Given the description of an element on the screen output the (x, y) to click on. 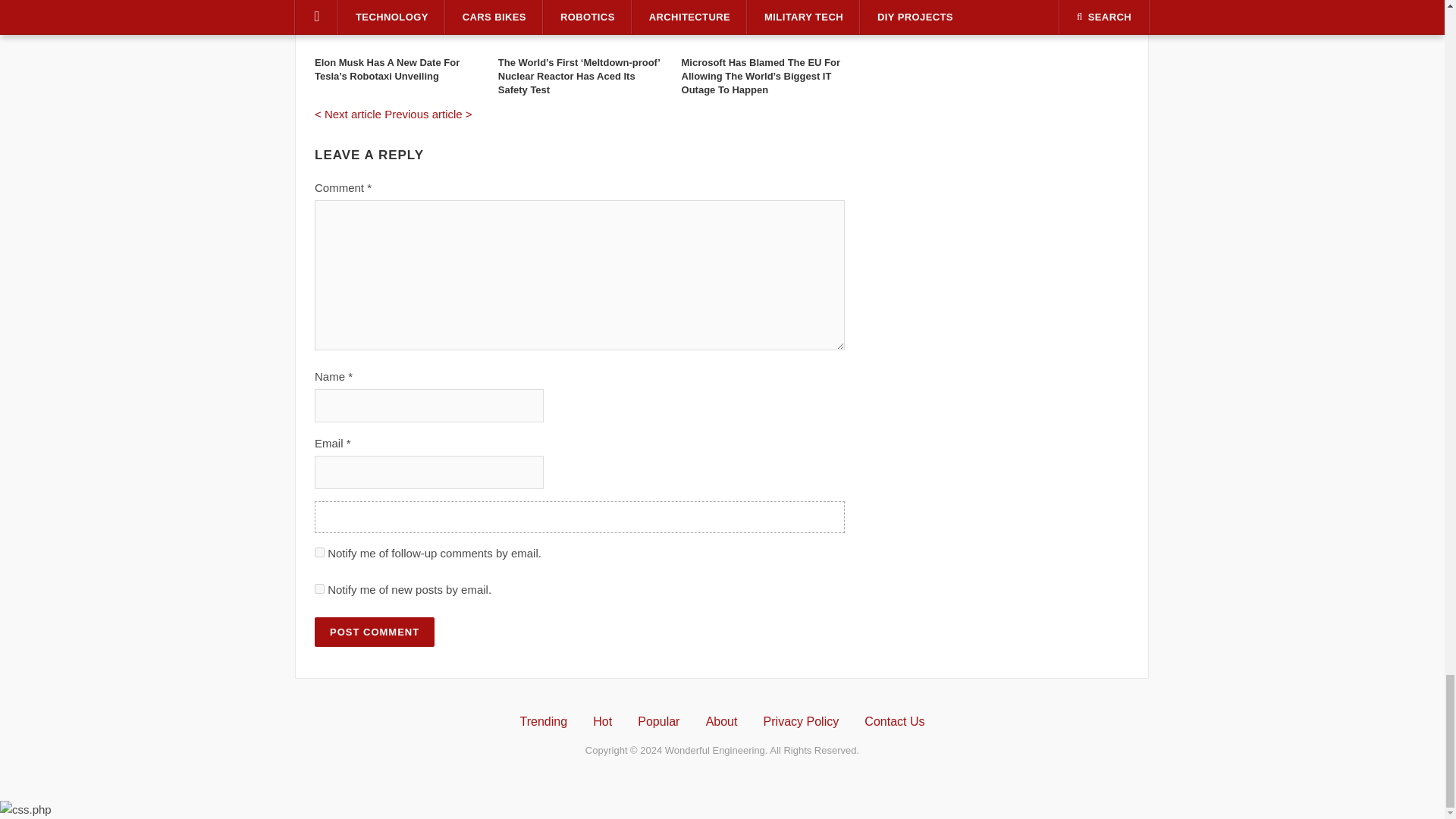
subscribe (319, 588)
Post Comment (373, 632)
subscribe (319, 552)
